Given the description of an element on the screen output the (x, y) to click on. 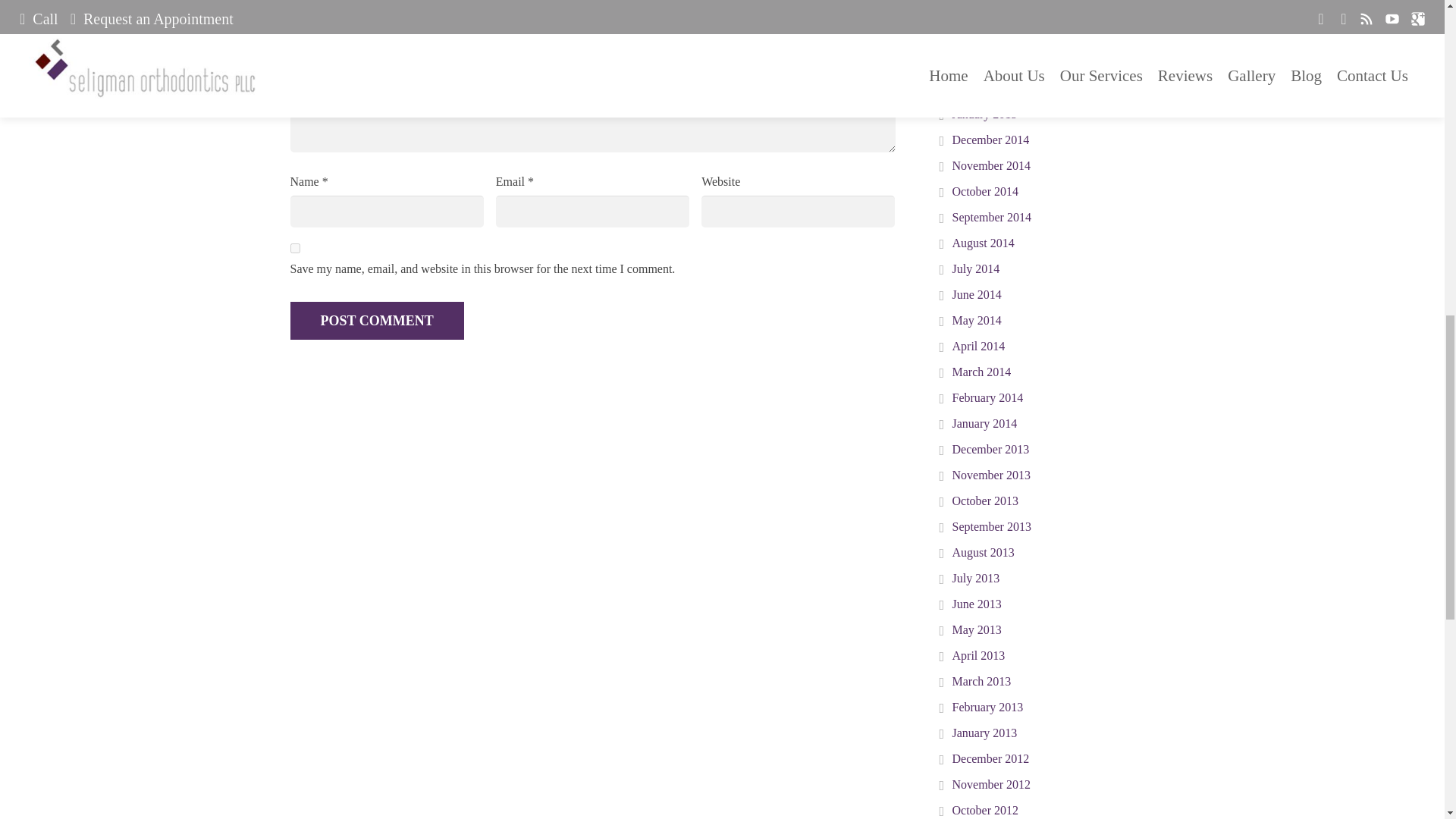
Post Comment (376, 320)
yes (294, 248)
Post Comment (376, 320)
